Given the description of an element on the screen output the (x, y) to click on. 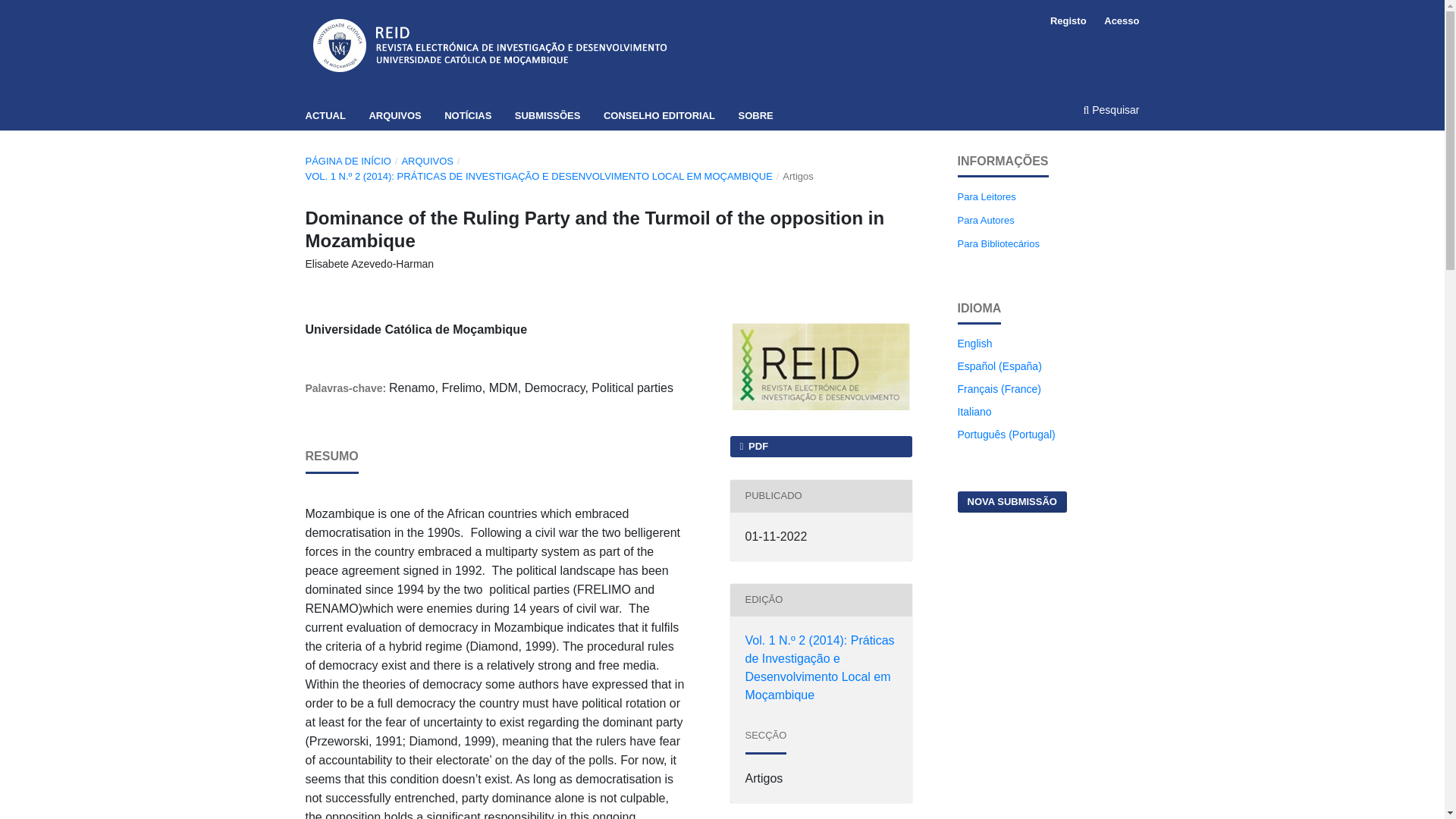
SOBRE (755, 115)
ARQUIVOS (426, 160)
Pesquisar (1100, 115)
ARQUIVOS (394, 115)
CONSELHO EDITORIAL (659, 115)
ACTUAL (324, 115)
Registo (1068, 20)
PDF (820, 446)
Acesso (1117, 20)
